Given the description of an element on the screen output the (x, y) to click on. 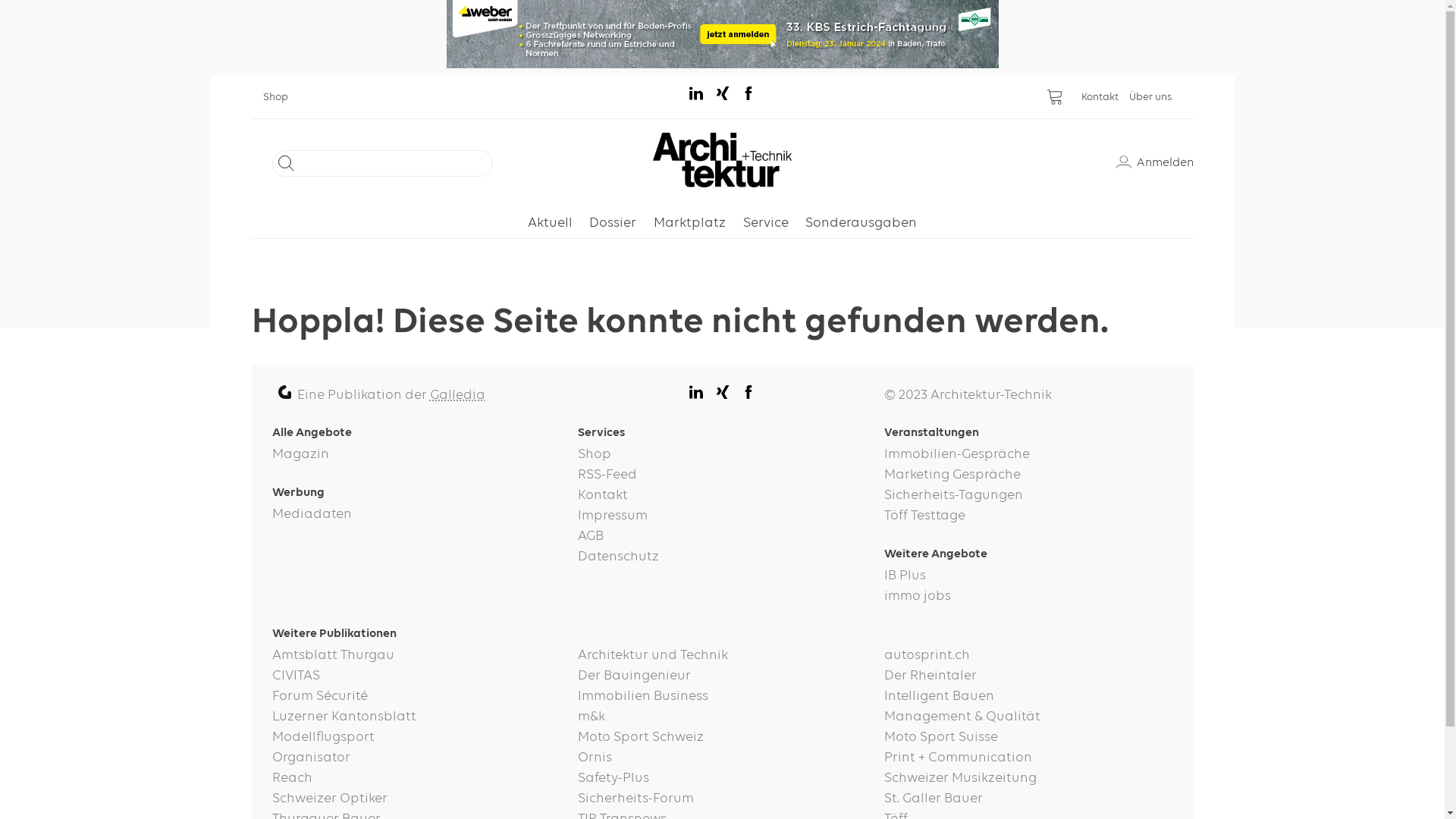
Schweizer Musikzeitung Element type: text (1028, 778)
Immobilien Business Element type: text (721, 696)
Intelligent Bauen Element type: text (1028, 696)
Anmelden Element type: text (1154, 162)
RSS-Feed Element type: text (721, 474)
Luzerner Kantonsblatt Element type: text (415, 716)
Galledia Element type: text (457, 394)
Datenschutz Element type: text (721, 556)
Shop Element type: text (280, 96)
Organisator Element type: text (415, 757)
Sonderausgaben Element type: text (860, 222)
Print + Communication Element type: text (1028, 757)
Magazin Element type: text (415, 454)
Aktuell Element type: text (549, 222)
Moto Sport Schweiz Element type: text (721, 737)
Kontakt Element type: text (721, 495)
Mediadaten Element type: text (415, 514)
Schweizer Optiker Element type: text (415, 798)
Der Bauingenieur Element type: text (721, 675)
Marktplatz Element type: text (689, 222)
Safety-Plus Element type: text (721, 778)
Architektur und Technik Element type: text (721, 655)
Reach Element type: text (415, 778)
St. Galler Bauer Element type: text (1028, 798)
immo jobs Element type: text (1028, 596)
Ornis Element type: text (721, 757)
Impressum Element type: text (721, 515)
Sicherheits-Forum Element type: text (721, 798)
Modellflugsport Element type: text (415, 737)
Bitte hier klicken Element type: hover (721, 34)
Der Rheintaler Element type: text (1028, 675)
Kontakt Element type: text (1105, 96)
Sicherheits-Tagungen Element type: text (1028, 495)
Amtsblatt Thurgau Element type: text (415, 655)
m&k Element type: text (721, 716)
IB Plus Element type: text (1028, 575)
Skip to content Element type: text (250, 74)
autosprint.ch Element type: text (1028, 655)
CIVITAS Element type: text (415, 675)
Service Element type: text (765, 222)
Shop Element type: text (721, 454)
Moto Sport Suisse Element type: text (1028, 737)
AGB Element type: text (721, 536)
Dossier Element type: text (612, 222)
